Given the description of an element on the screen output the (x, y) to click on. 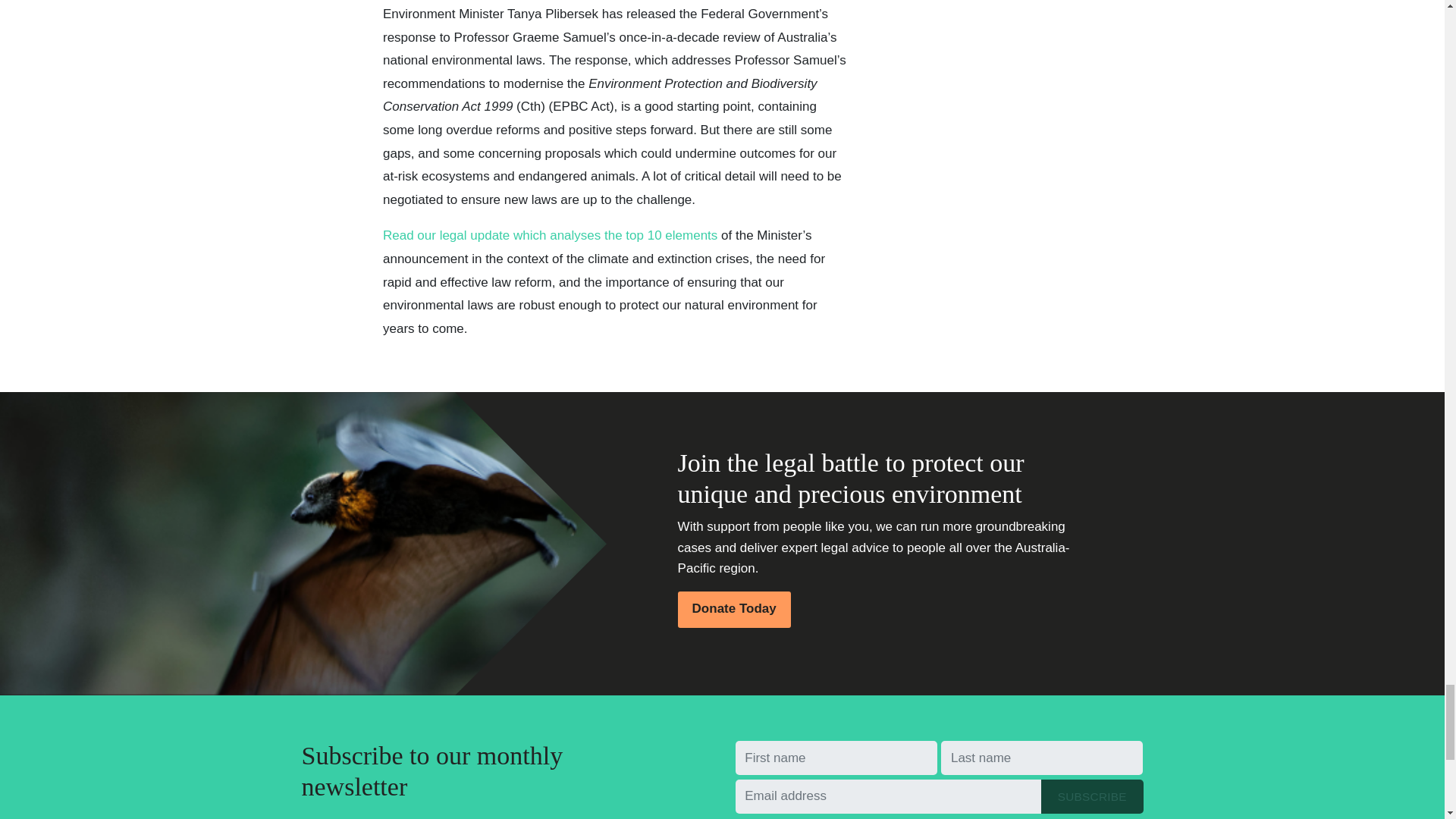
Subscribe (1091, 796)
Donate Today (734, 609)
Read our legal update which analyses the top 10 elements (549, 235)
Subscribe (1091, 796)
